Given the description of an element on the screen output the (x, y) to click on. 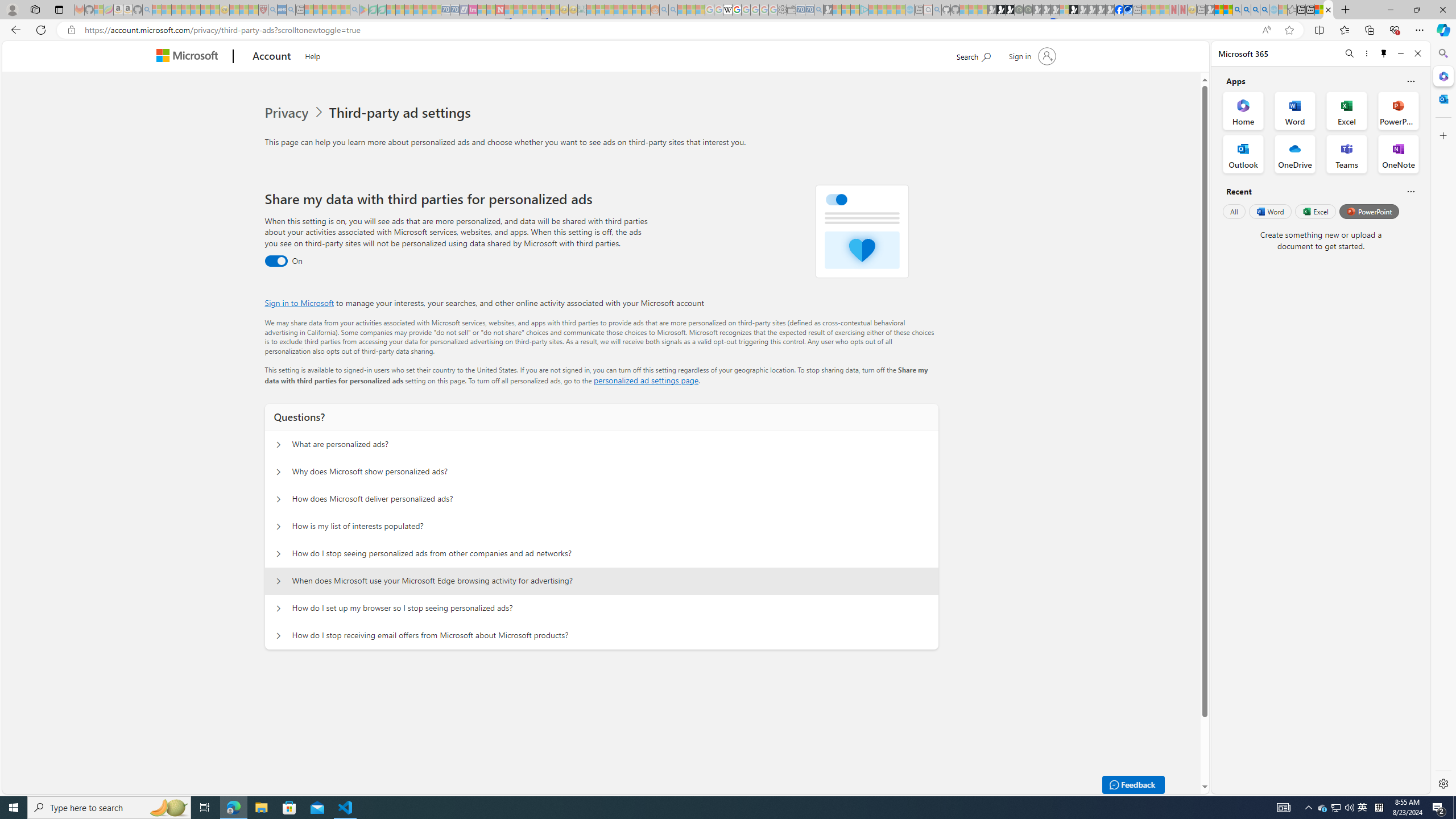
Third party data sharing toggle (276, 260)
